Given the description of an element on the screen output the (x, y) to click on. 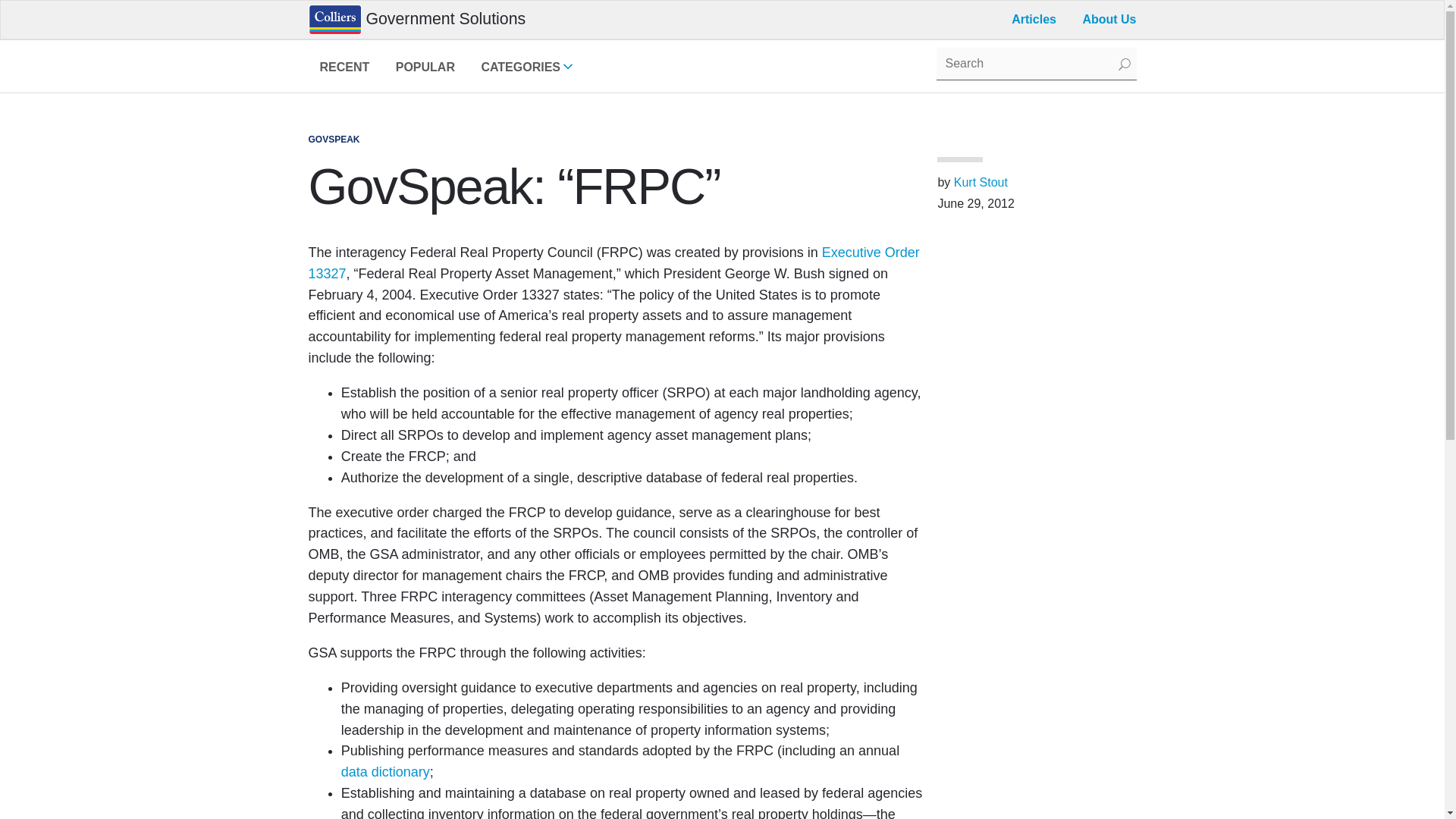
Government Solutions (416, 19)
Search for: (343, 69)
E.O. 13327 Federal Real Property Asset Management (1035, 63)
Data Dictionary (525, 69)
Articles (612, 262)
About Us (424, 69)
